Given the description of an element on the screen output the (x, y) to click on. 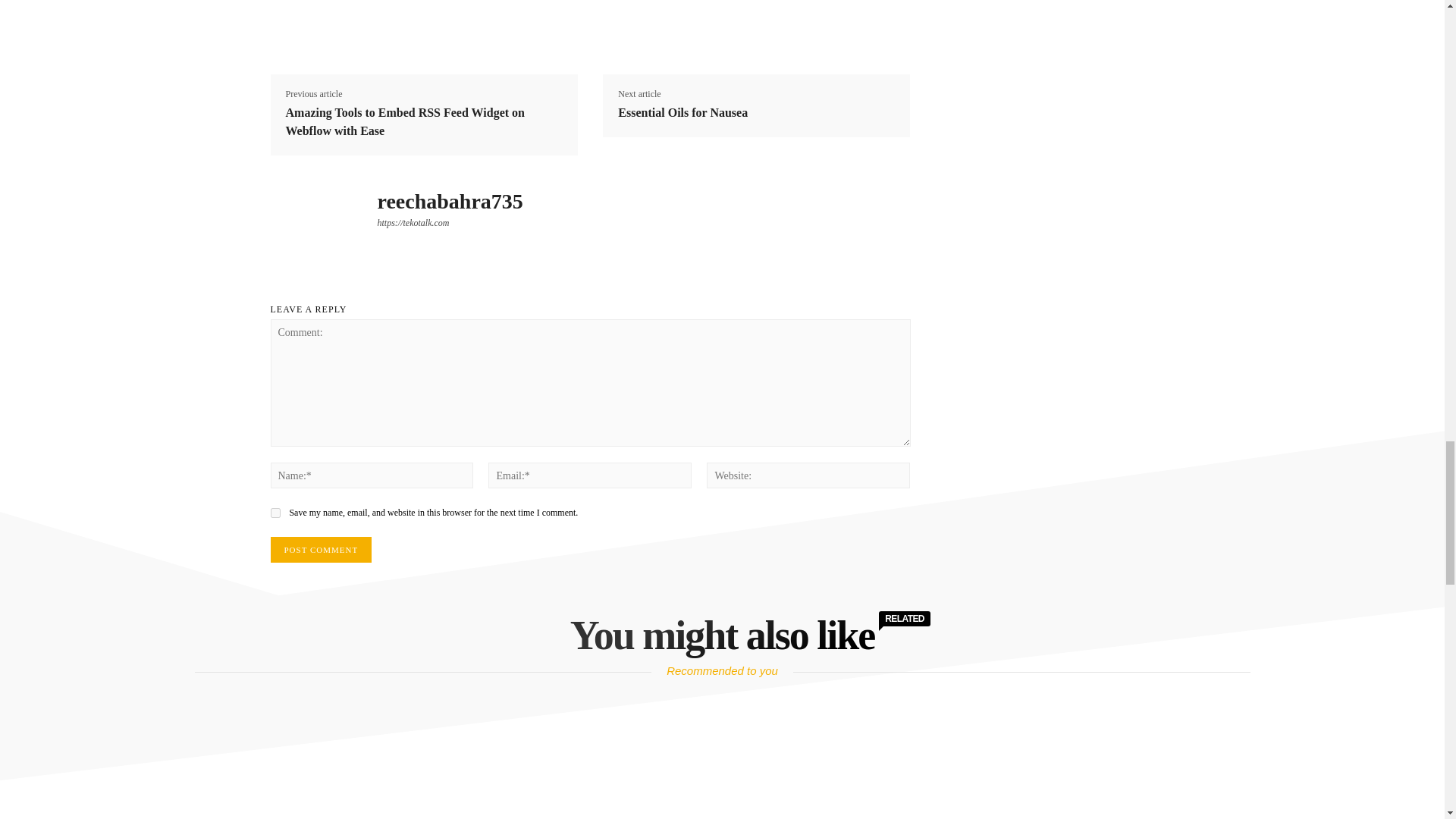
Post Comment (320, 549)
yes (274, 512)
